Given the description of an element on the screen output the (x, y) to click on. 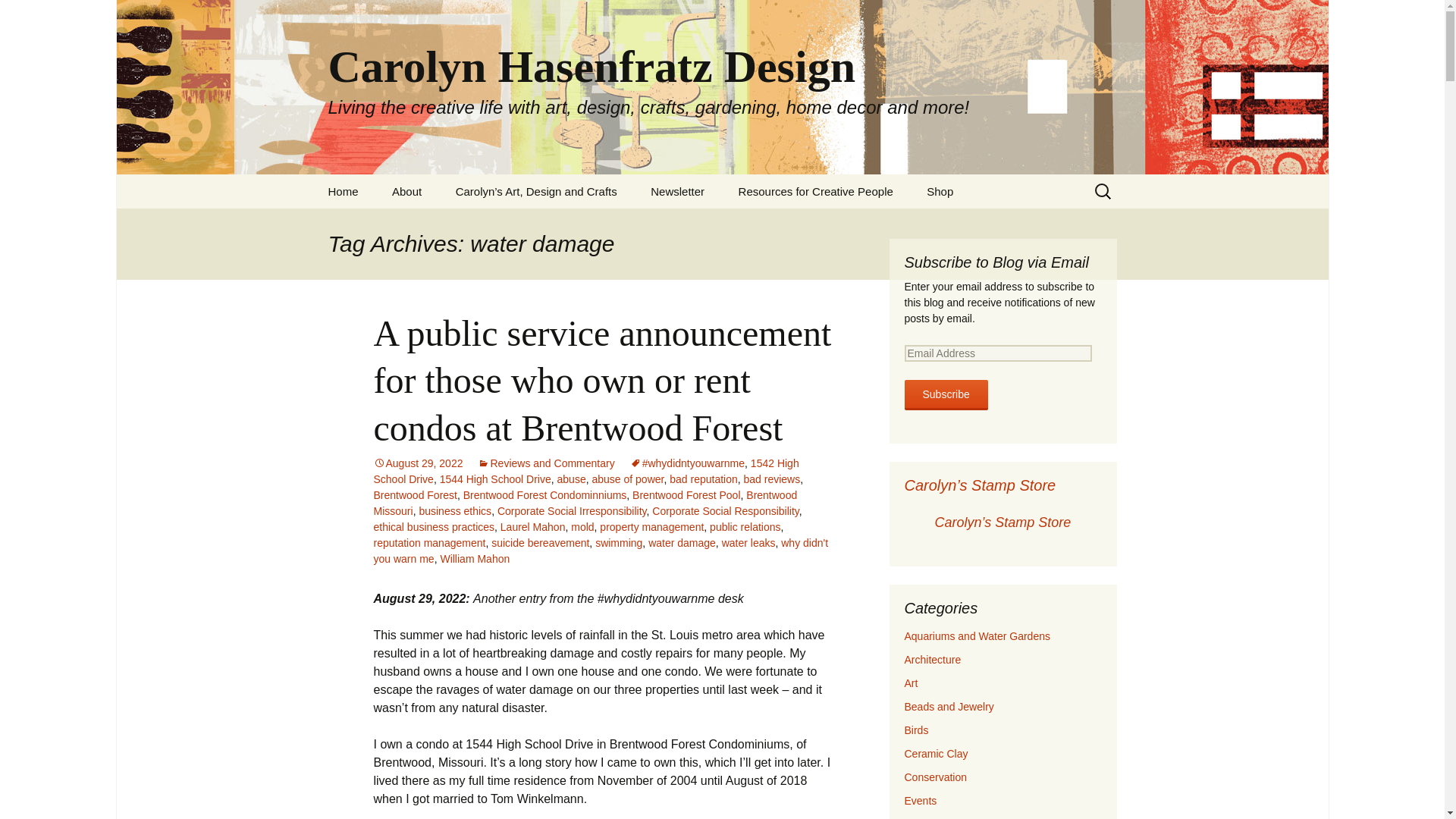
Search (18, 15)
Reviews and Commentary (545, 463)
Resources for Creative People (815, 191)
Shop (939, 191)
August 29, 2022 (417, 463)
Home (342, 191)
Complete Archives (710, 225)
